Given the description of an element on the screen output the (x, y) to click on. 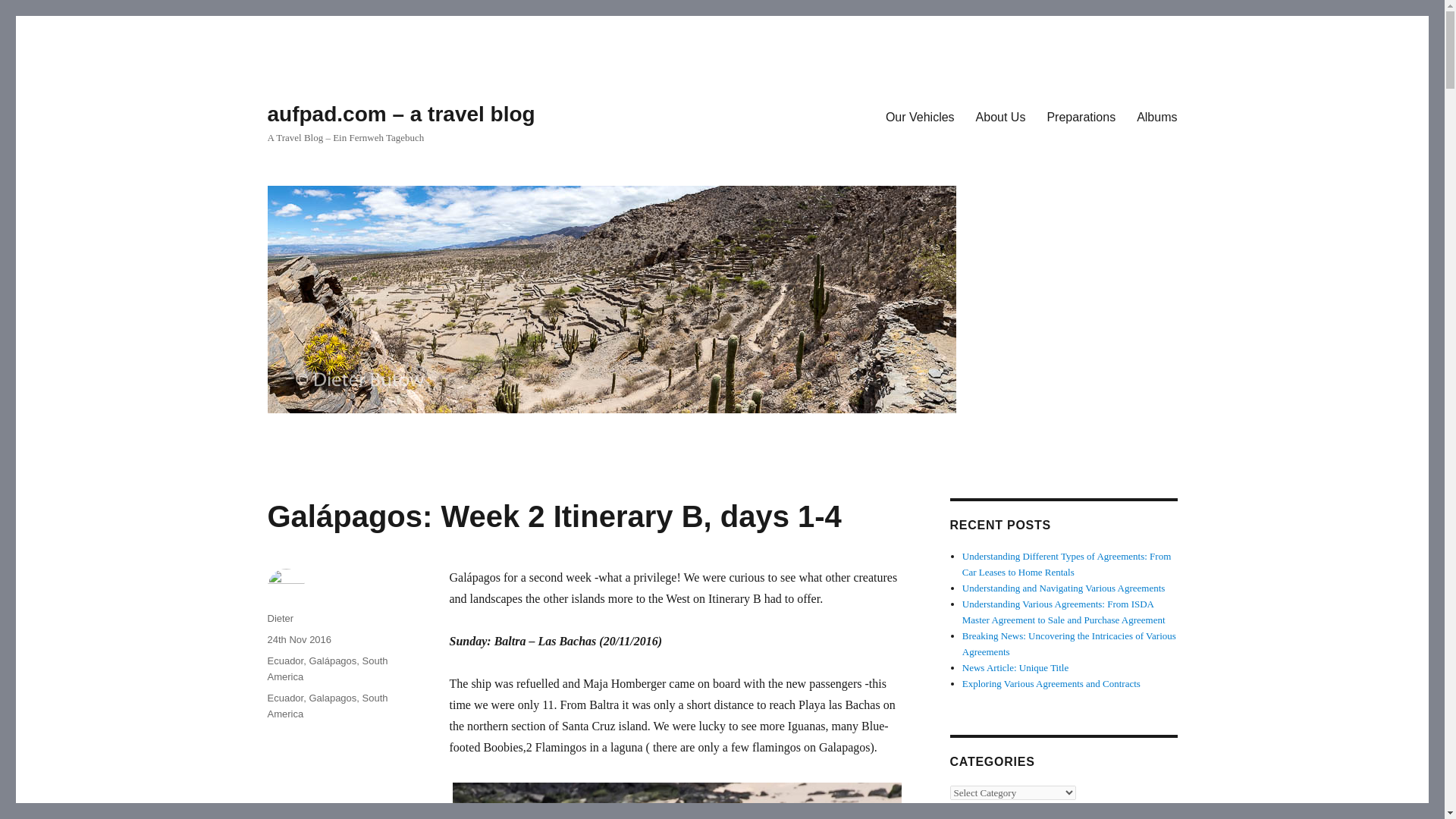
About Us (1000, 116)
Our Vehicles (920, 116)
Gal B1 Baltra-Las Bachas-1 (676, 799)
Albums (1156, 116)
Preparations (1080, 116)
